Given the description of an element on the screen output the (x, y) to click on. 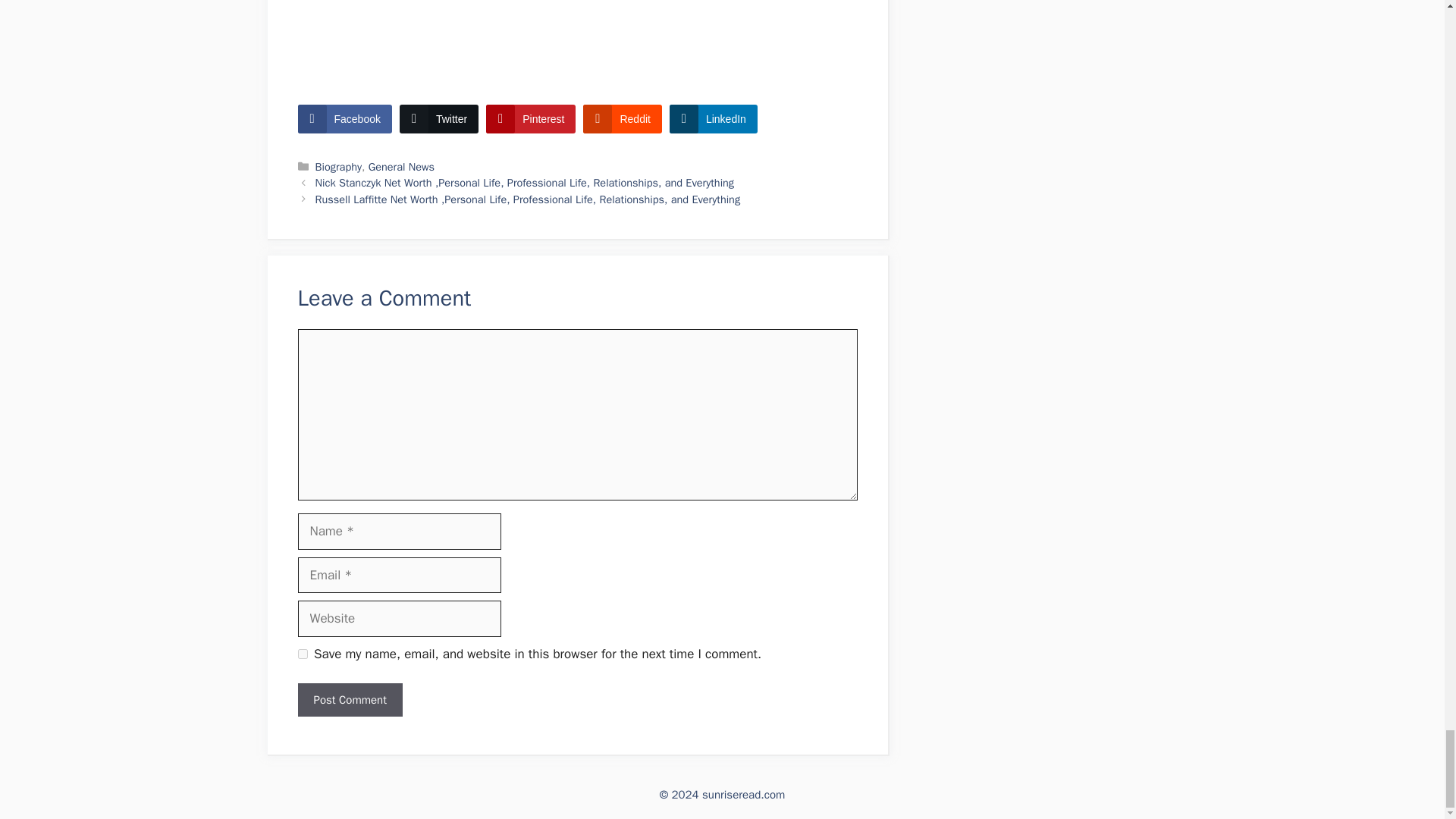
yes (302, 654)
Pinterest (530, 118)
Twitter (438, 118)
Post Comment (349, 700)
Facebook (344, 118)
